Given the description of an element on the screen output the (x, y) to click on. 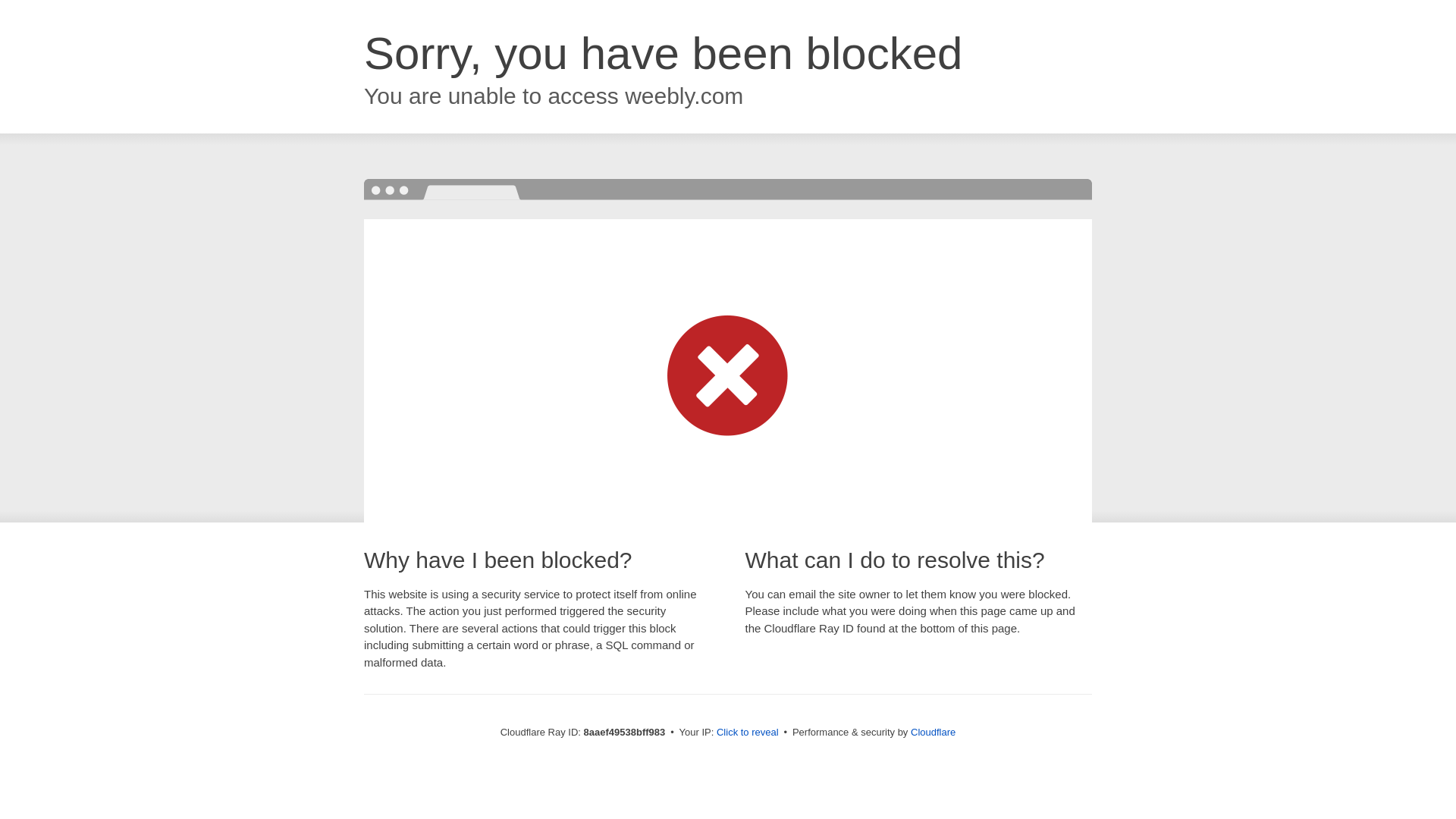
Click to reveal (747, 732)
Cloudflare (933, 731)
